Given the description of an element on the screen output the (x, y) to click on. 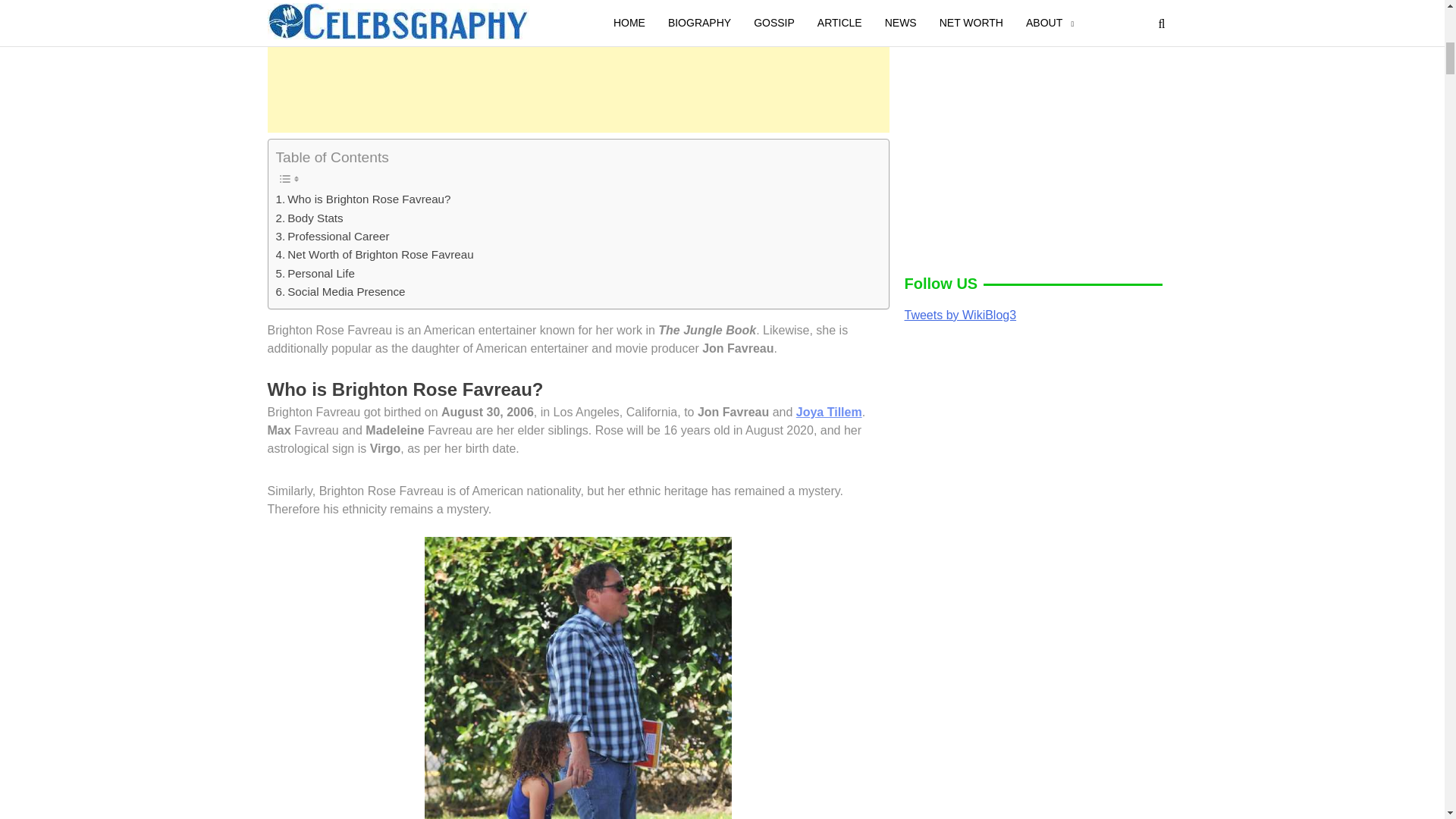
Joya Tillem (828, 411)
Social Media Presence (341, 291)
Body Stats (309, 218)
Who is Brighton Rose Favreau? (363, 199)
Body Stats (309, 218)
Professional Career (333, 236)
Personal Life (315, 273)
Advertisement (577, 70)
Net Worth of Brighton Rose Favreau (375, 254)
Social Media Presence (341, 291)
Net Worth of Brighton Rose Favreau (375, 254)
Personal Life (315, 273)
Professional Career (333, 236)
Who is Brighton Rose Favreau? (363, 199)
